Given the description of an element on the screen output the (x, y) to click on. 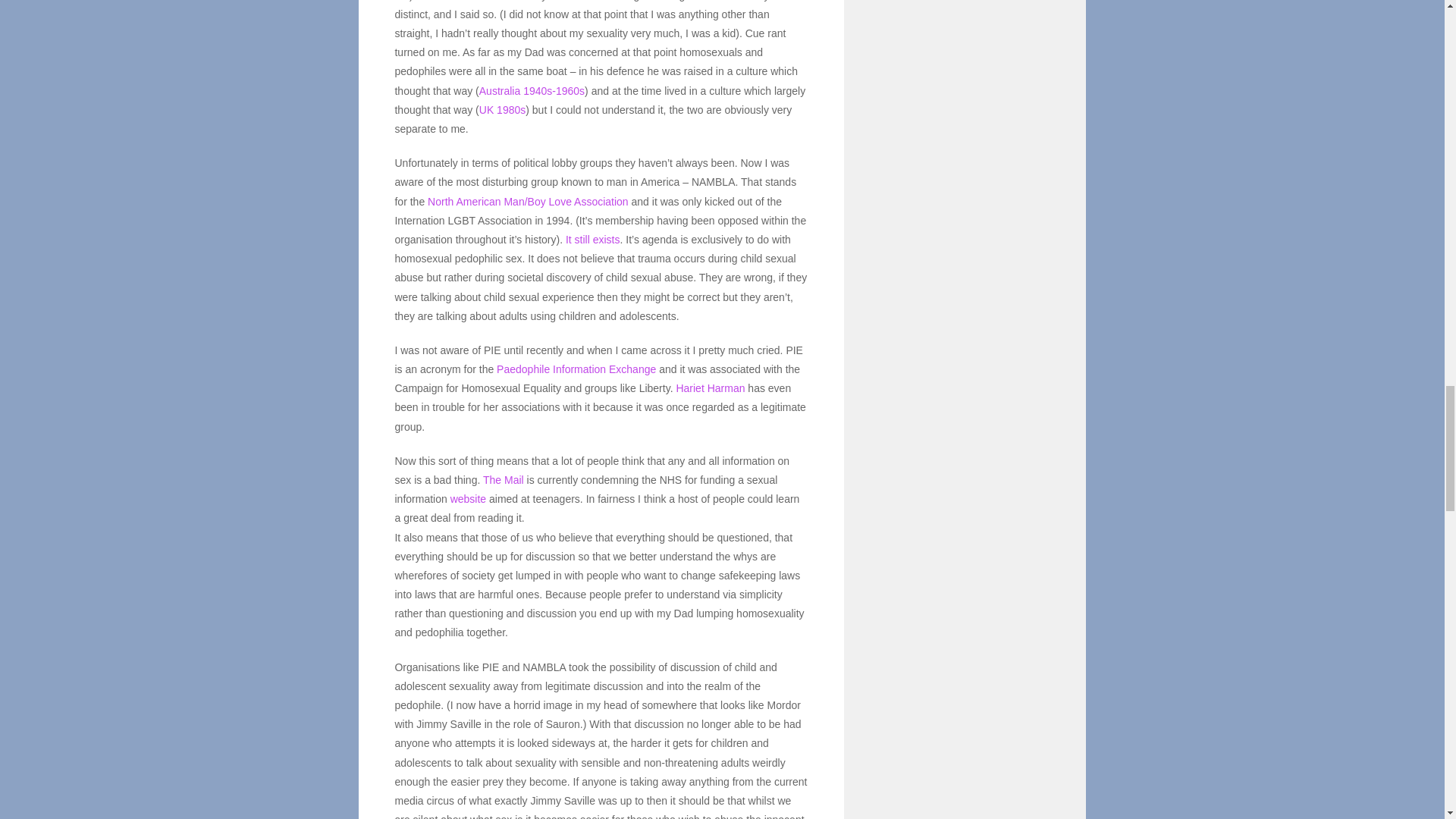
Paedophile Information Exchange (576, 369)
website (467, 499)
Australia 1940s-1960s (532, 91)
UK 1980s (502, 110)
The Mail (503, 480)
It still exists (593, 239)
Hariet Harman (709, 387)
